Given the description of an element on the screen output the (x, y) to click on. 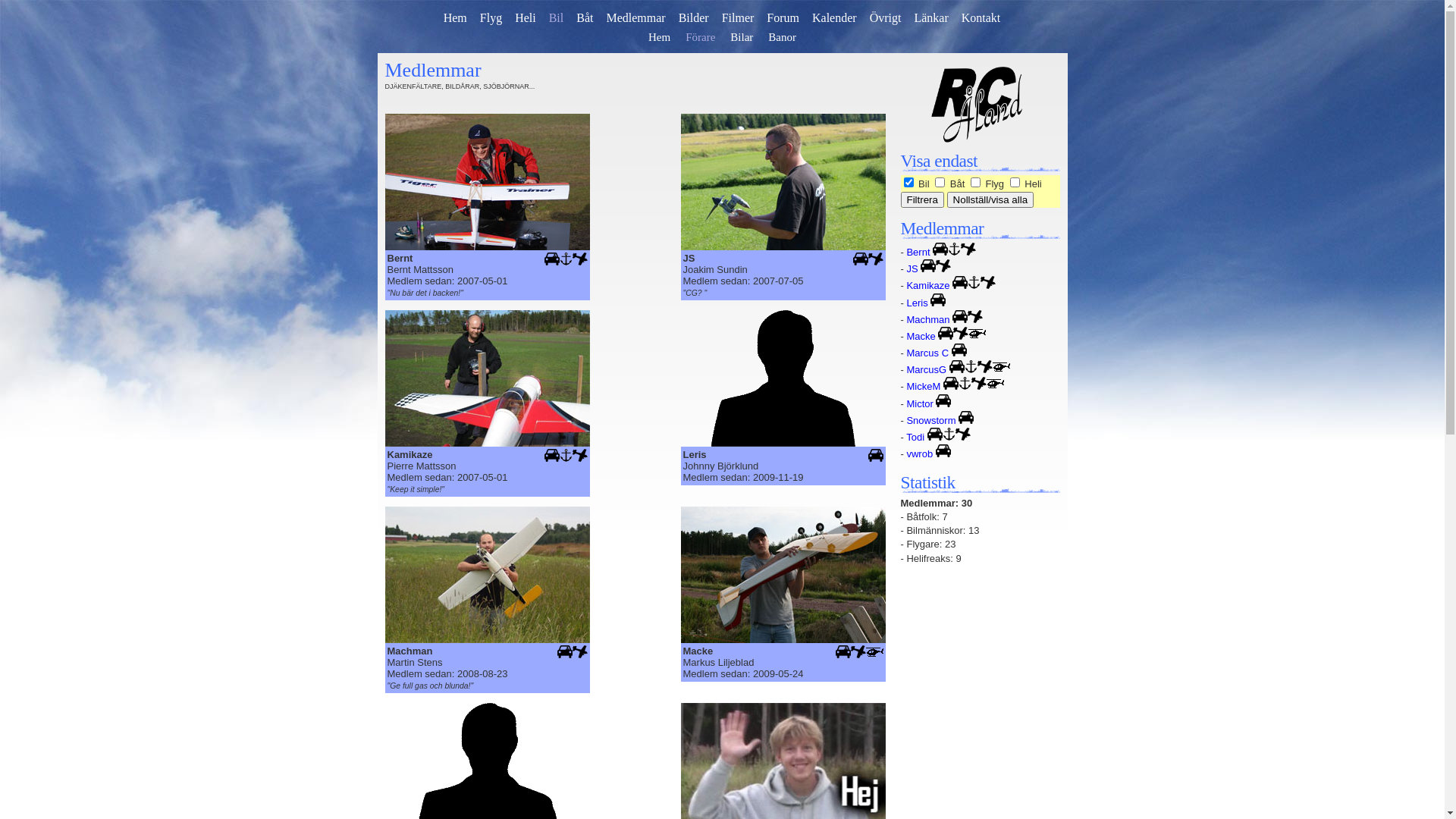
Bilder Element type: text (693, 17)
Marcus C Element type: text (927, 352)
Mictor Element type: text (919, 403)
Kamikaze Element type: text (927, 285)
Bernt Element type: text (917, 251)
JS Element type: text (911, 268)
Leris Element type: text (916, 302)
Todi Element type: text (915, 436)
Kalender Element type: text (834, 17)
vwrob Element type: text (919, 453)
Hem Element type: text (455, 17)
Flyg Element type: text (491, 17)
Filmer Element type: text (737, 17)
Heli Element type: text (525, 17)
Bilar Element type: text (741, 37)
Medlemmar Element type: text (635, 17)
Bil Element type: text (556, 17)
MarcusG Element type: text (926, 369)
Hem Element type: text (659, 37)
Kontakt Element type: text (981, 17)
MickeM Element type: text (923, 386)
Banor Element type: text (782, 37)
Macke Element type: text (920, 336)
Snowstorm Element type: text (930, 420)
Machman Element type: text (927, 319)
Filtrera Element type: text (922, 199)
Forum Element type: text (782, 17)
